Given the description of an element on the screen output the (x, y) to click on. 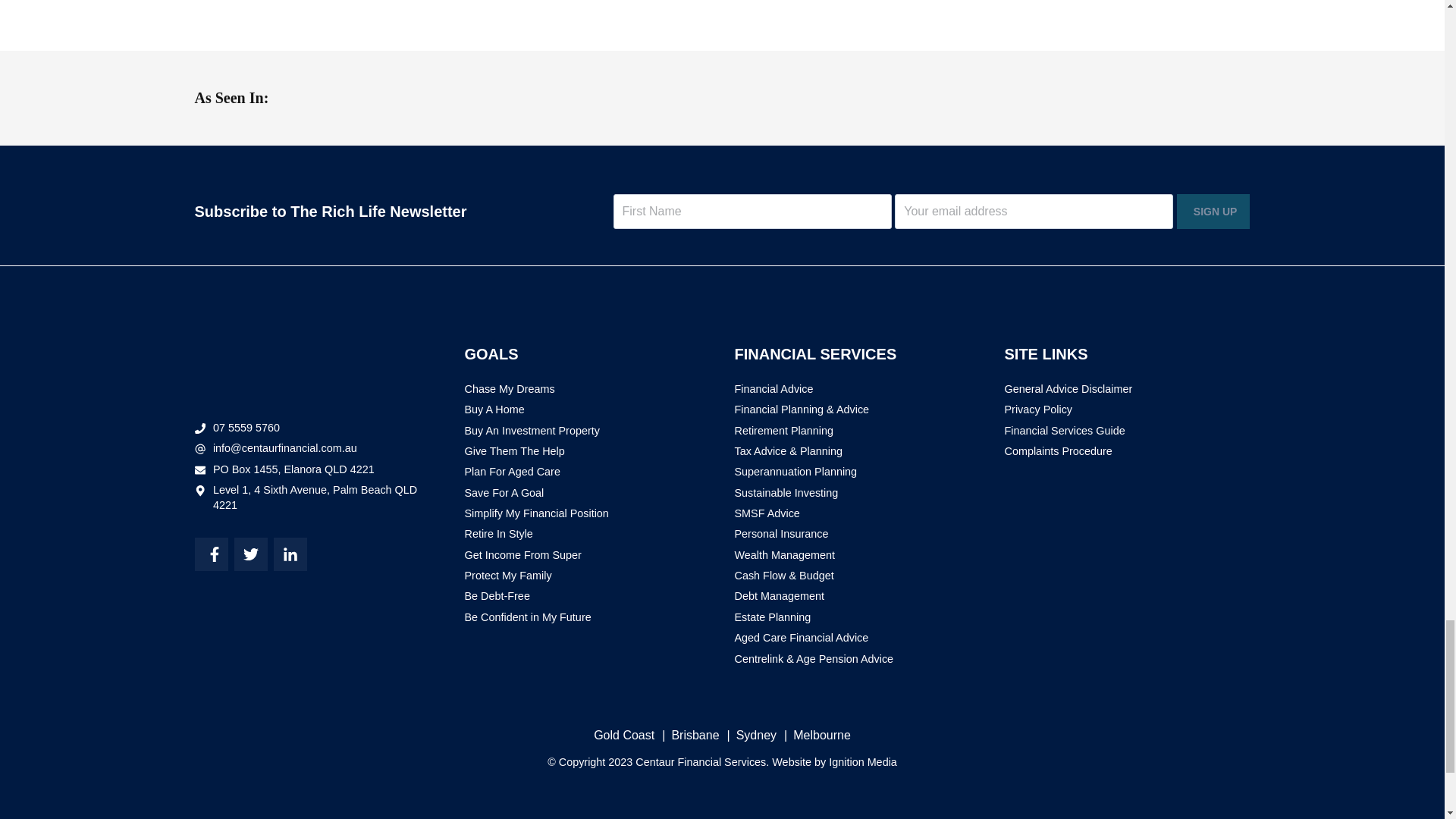
Sign up (1213, 211)
